Given the description of an element on the screen output the (x, y) to click on. 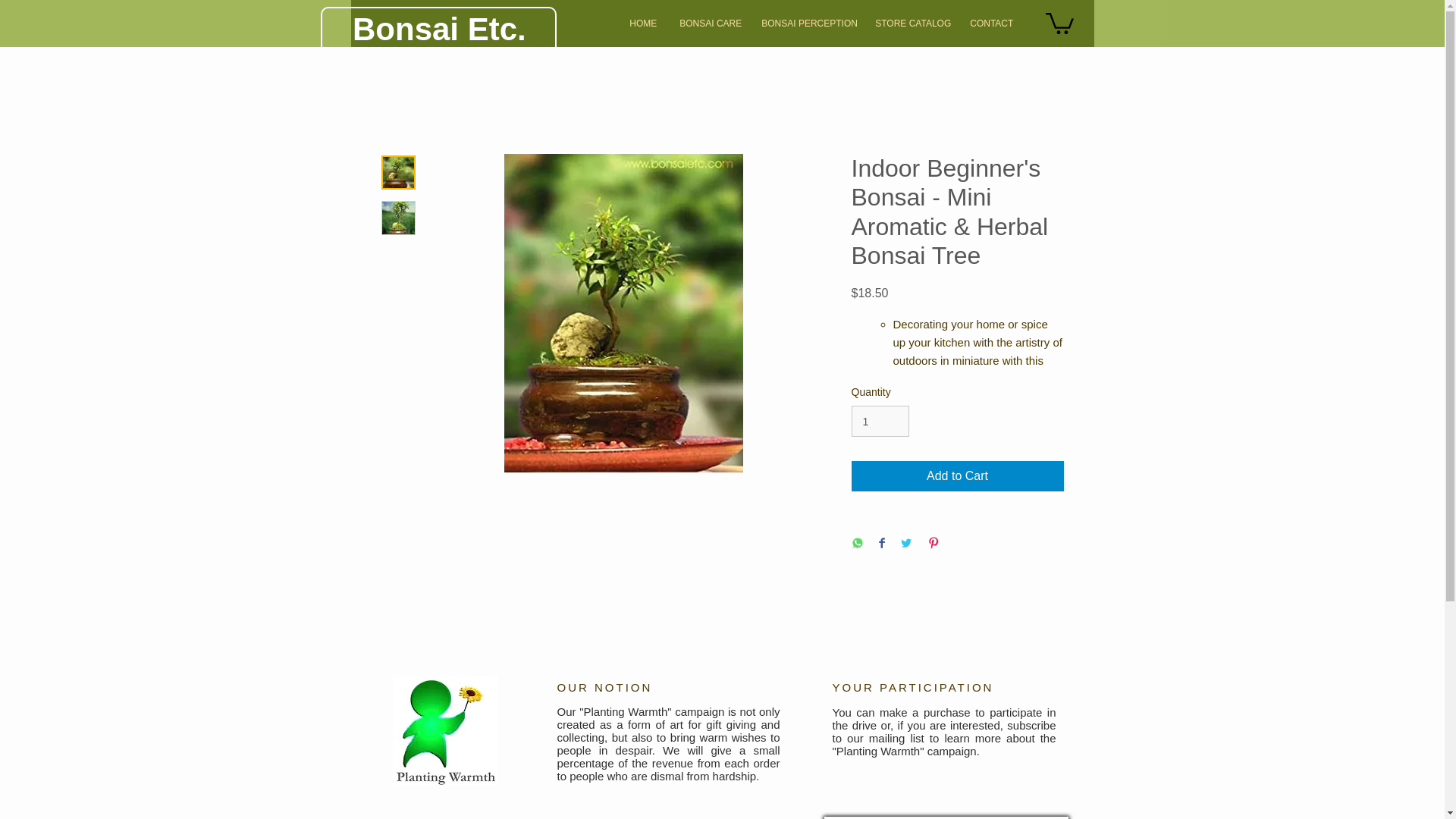
Add to Cart (956, 476)
CONTACT (990, 23)
STORE CATALOG (910, 23)
BONSAI CARE (708, 23)
1 (879, 420)
HOME (642, 23)
BONSAI PERCEPTION (806, 23)
